Given the description of an element on the screen output the (x, y) to click on. 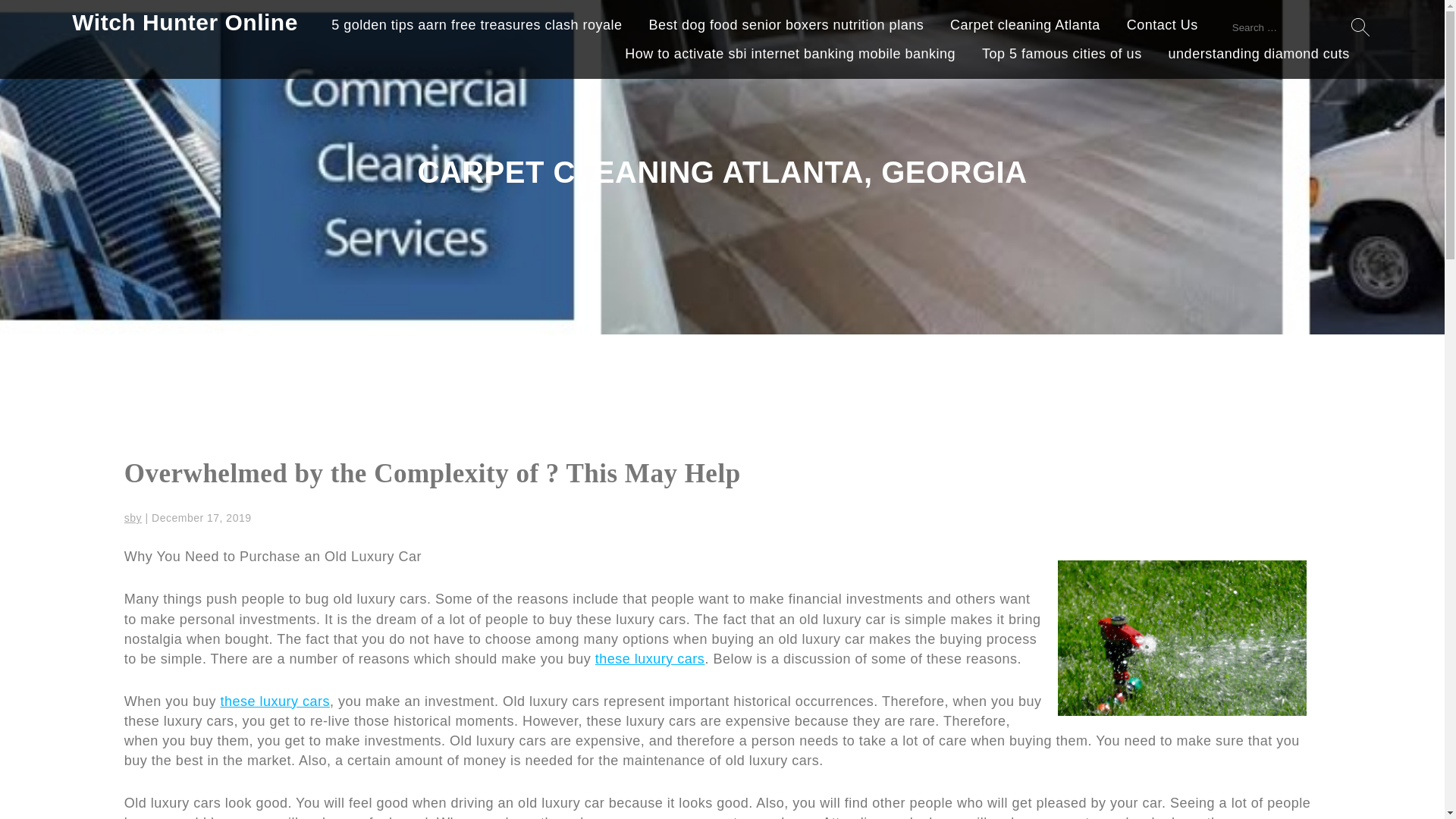
Carpet cleaning Atlanta (1025, 27)
these luxury cars (274, 701)
5 golden tips aarn free treasures clash royale (476, 27)
How to activate sbi internet banking mobile banking (789, 56)
Best dog food senior boxers nutrition plans (785, 27)
Witch Hunter Online (184, 22)
Witch Hunter Online (184, 22)
Overwhelmed by the Complexity of ? This May Help (432, 473)
Posts by sby (132, 517)
Contact Us (1162, 27)
